Given the description of an element on the screen output the (x, y) to click on. 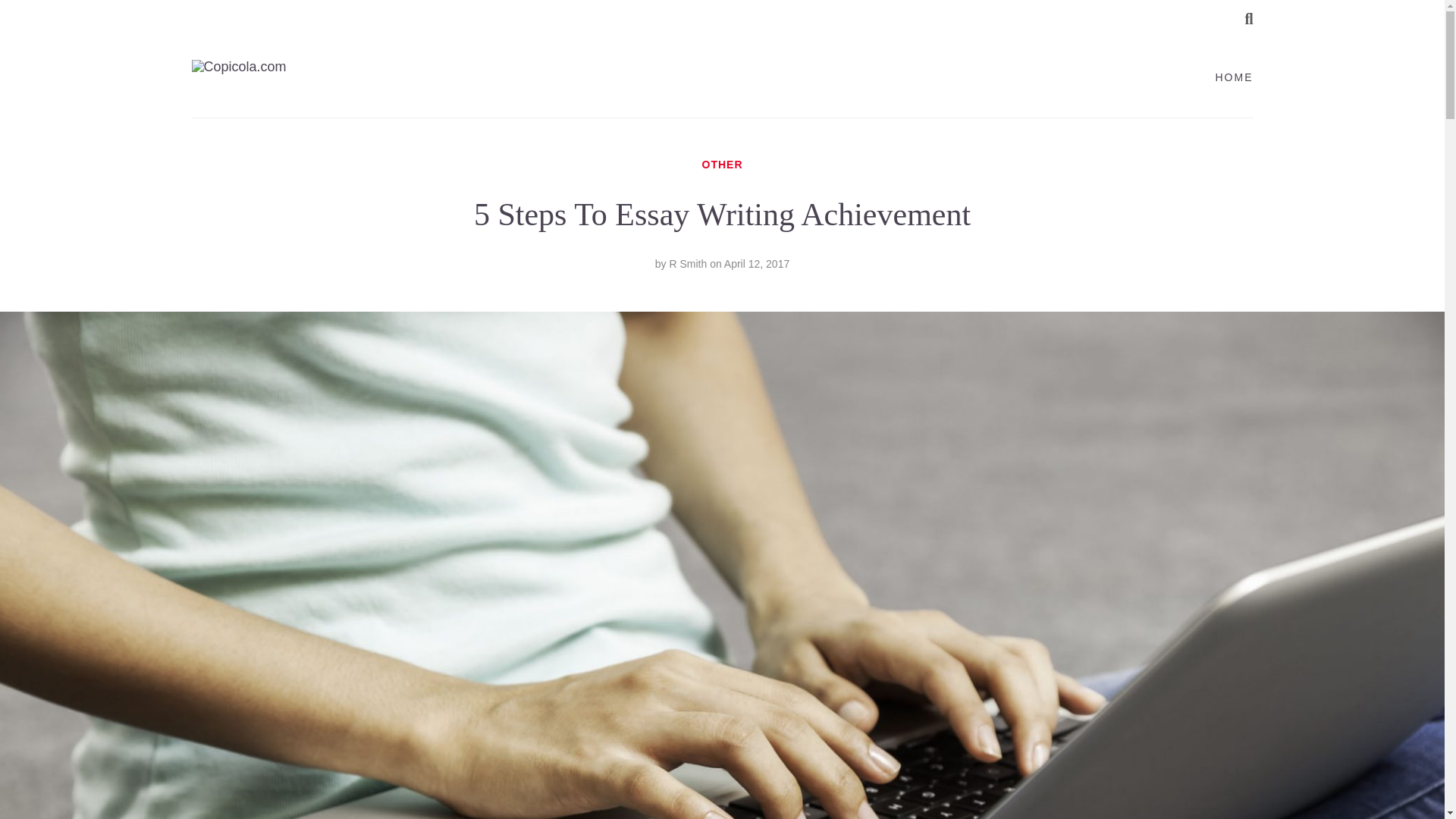
April 12, 2017 (756, 263)
R Smith (687, 263)
5 Steps To Essay Writing Achievement (756, 263)
Posts by R Smith (687, 263)
OTHER (721, 163)
HOME (1233, 76)
